Given the description of an element on the screen output the (x, y) to click on. 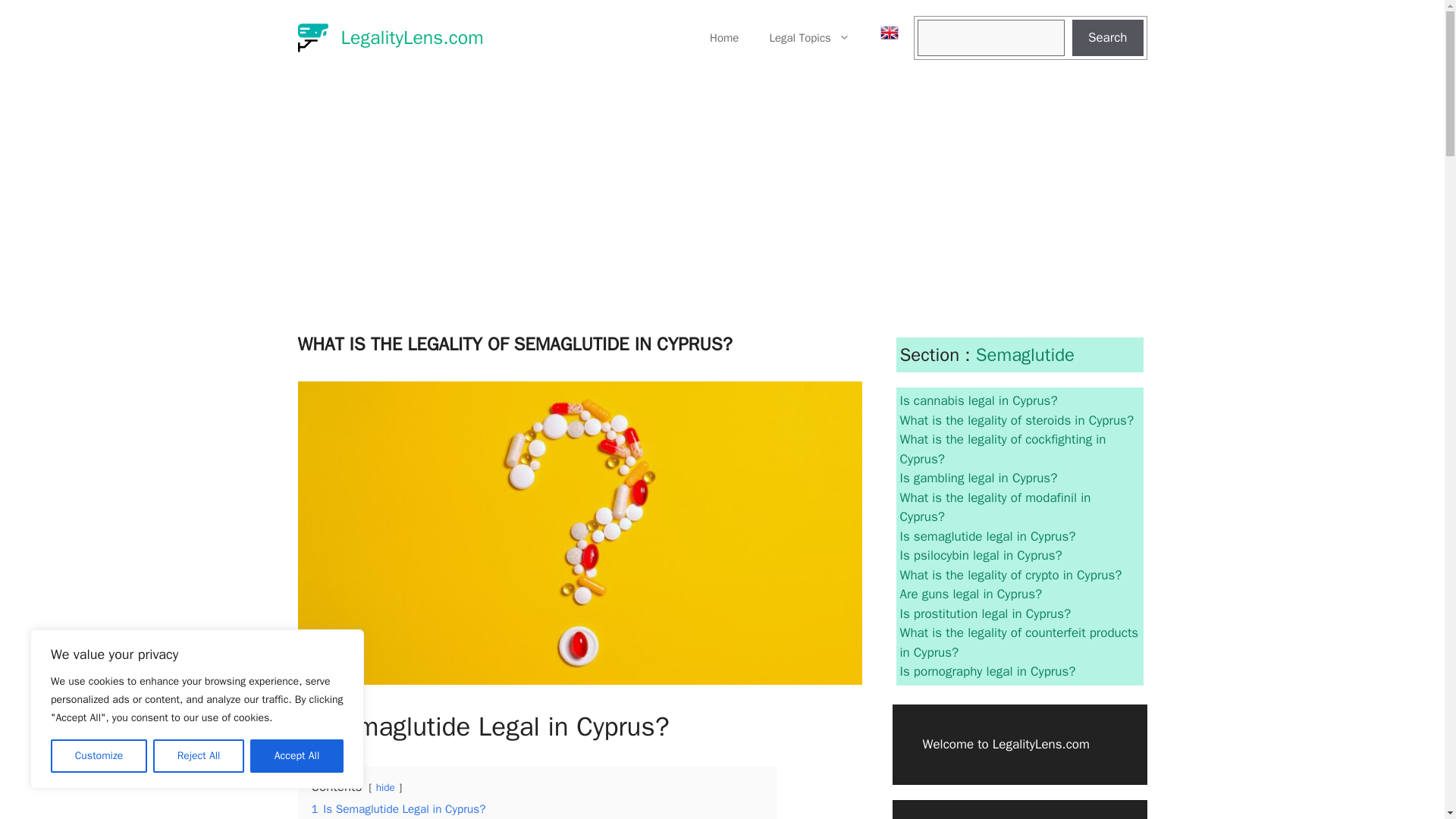
Customize (98, 756)
hide (384, 787)
Search (1106, 37)
LegalityLens.com (411, 37)
Reject All (198, 756)
Home (724, 37)
Legal Topics (809, 37)
1 Is Semaglutide Legal in Cyprus? (397, 808)
Accept All (296, 756)
